Given the description of an element on the screen output the (x, y) to click on. 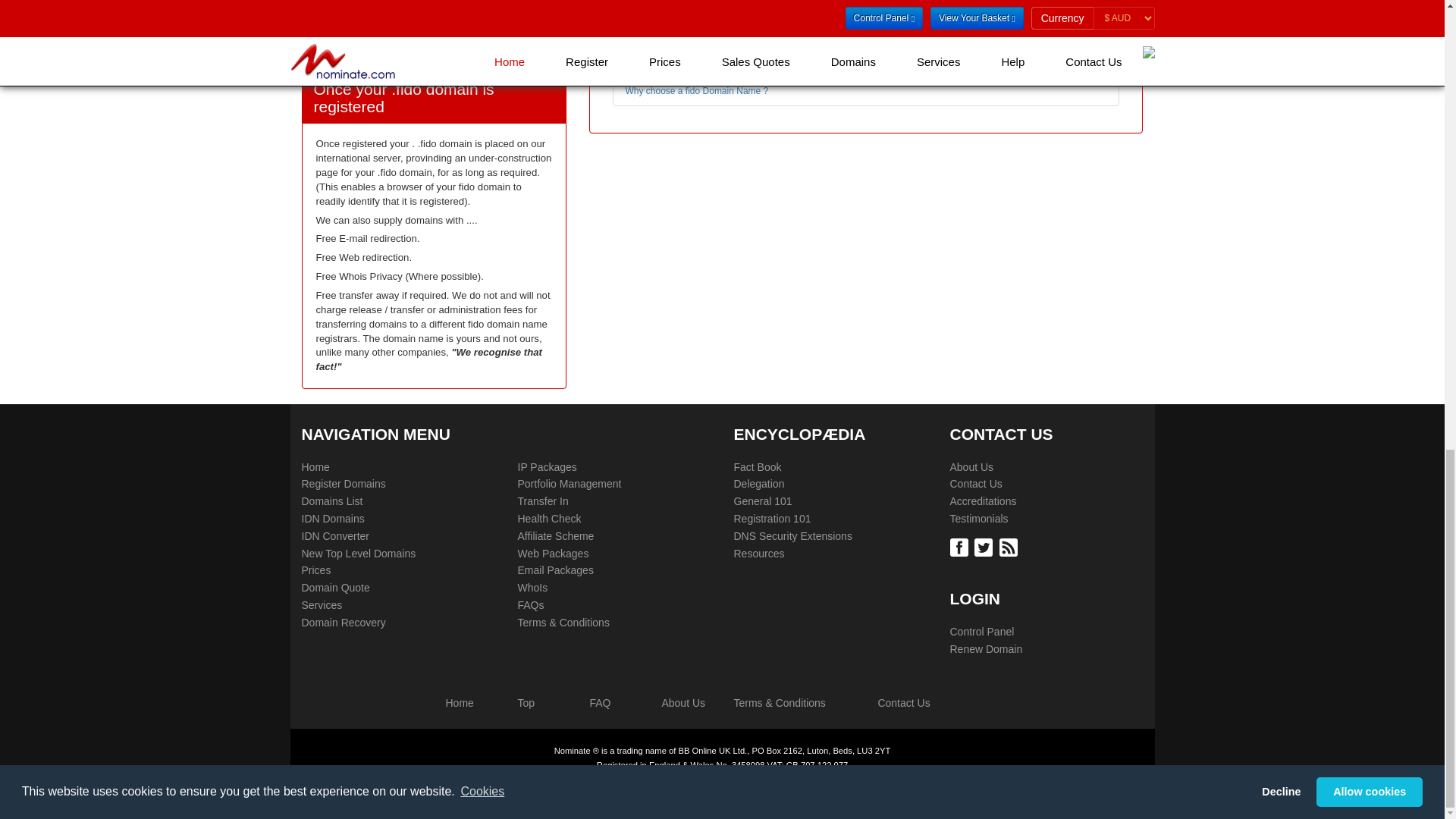
New Top Level Domains (358, 554)
International Domain Names (315, 467)
Register Your Domains (343, 484)
Domains List (331, 501)
Our Nominate Services (321, 605)
Everyday Domains Prices (316, 570)
fido domains, registry terms (938, 2)
fido domains, why choose one (696, 90)
IDN Converter (335, 536)
Domain Quote (335, 588)
